Given the description of an element on the screen output the (x, y) to click on. 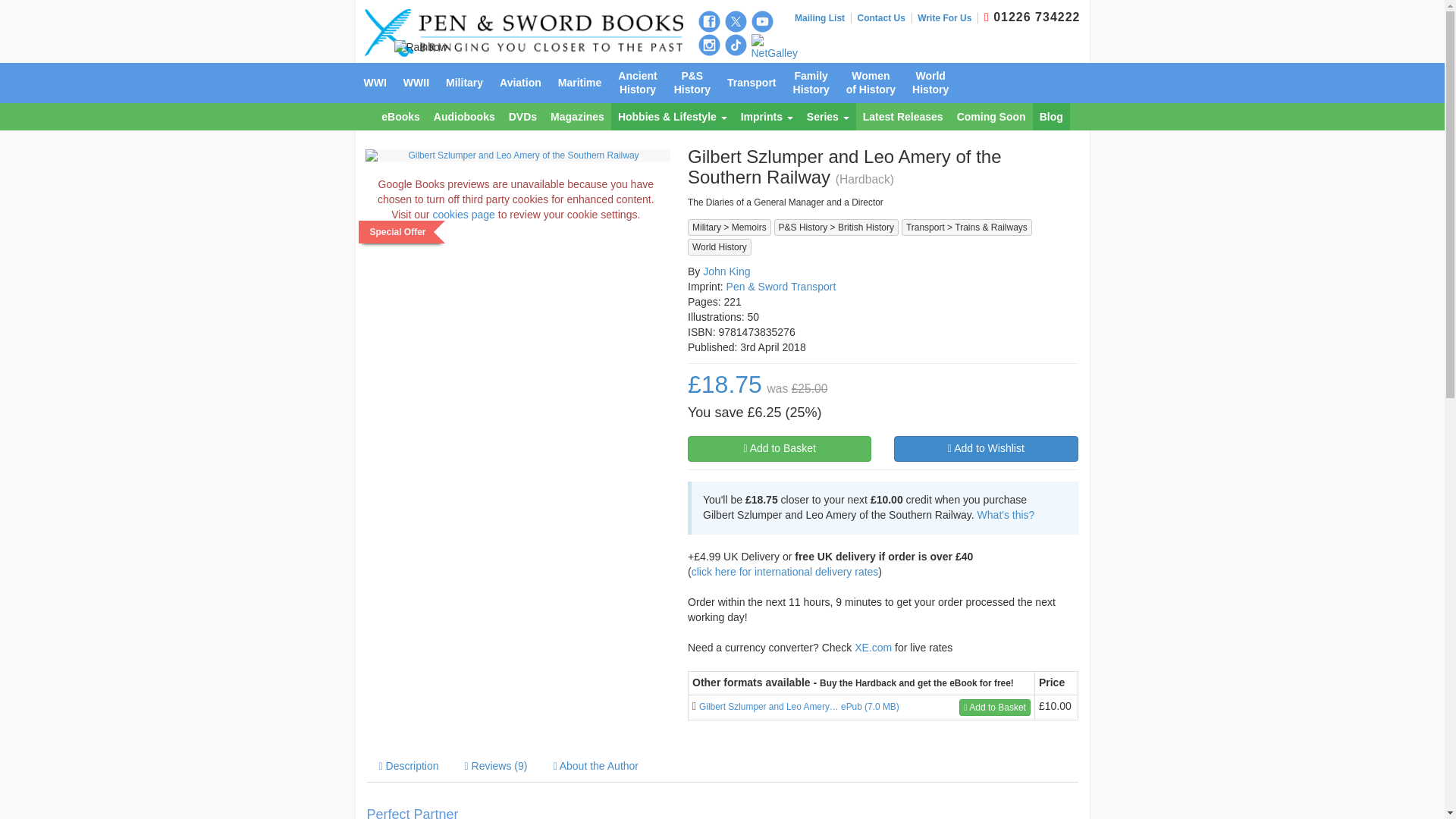
Mailing List (822, 18)
NetGalley (773, 47)
TikTok (735, 45)
Write For Us (947, 18)
X (735, 21)
Instagram (708, 45)
Contact Us (884, 18)
YouTube (762, 21)
Facebook (708, 21)
